Given the description of an element on the screen output the (x, y) to click on. 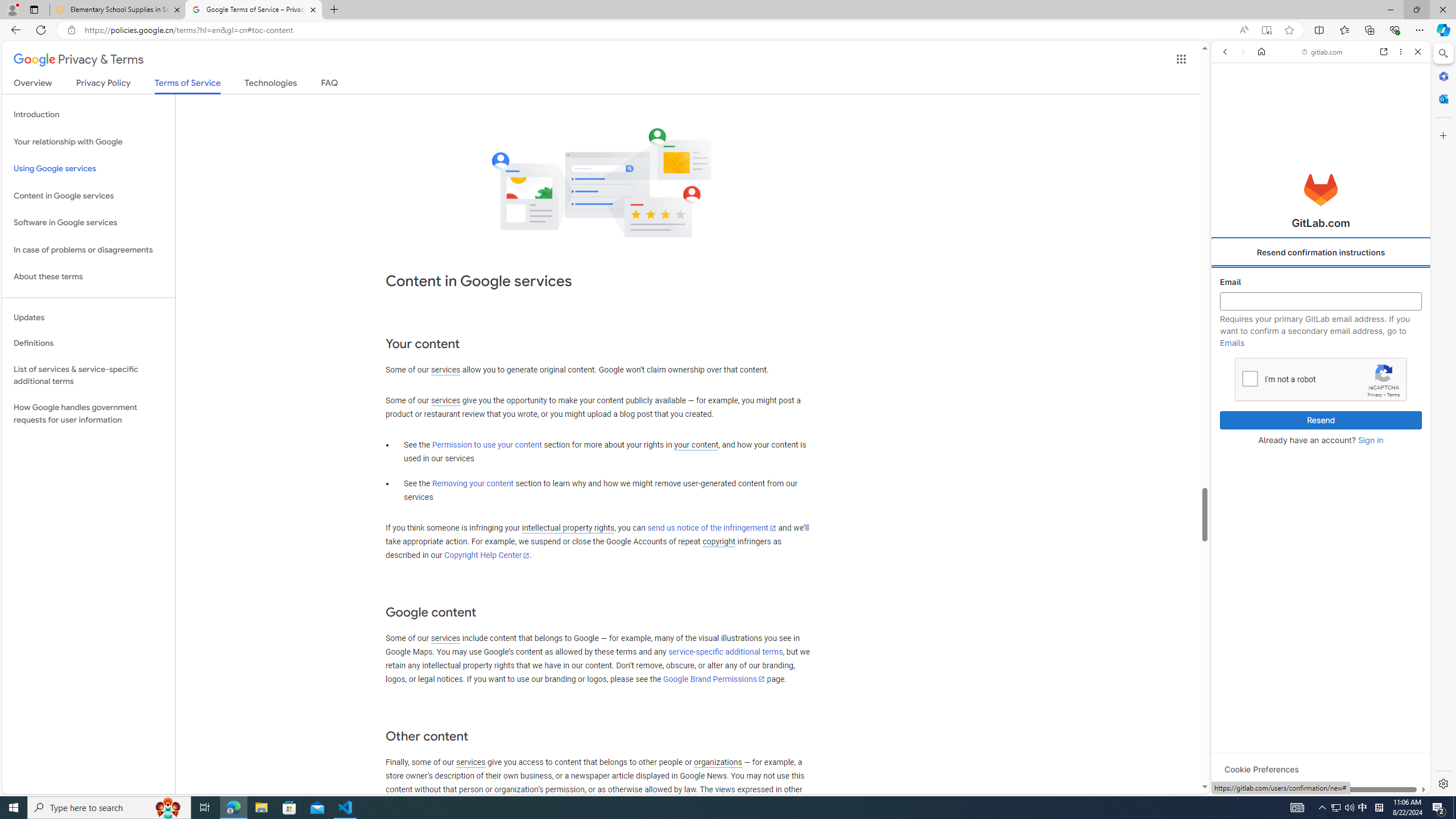
Search Filter, Search Tools (1348, 129)
Login (1320, 281)
Collections (1369, 29)
Copilot (Ctrl+Shift+.) (1442, 29)
Restore (1416, 9)
Resend confirmation instructions (1321, 252)
View details (1379, 554)
Open link in new tab (1383, 51)
gitlab.com (1323, 51)
Settings (1442, 783)
Customize (1442, 135)
Confirmation Page (1320, 392)
Address and search bar (658, 29)
I'm not a robot (1249, 378)
Enter Immersive Reader (F9) (1266, 29)
